Given the description of an element on the screen output the (x, y) to click on. 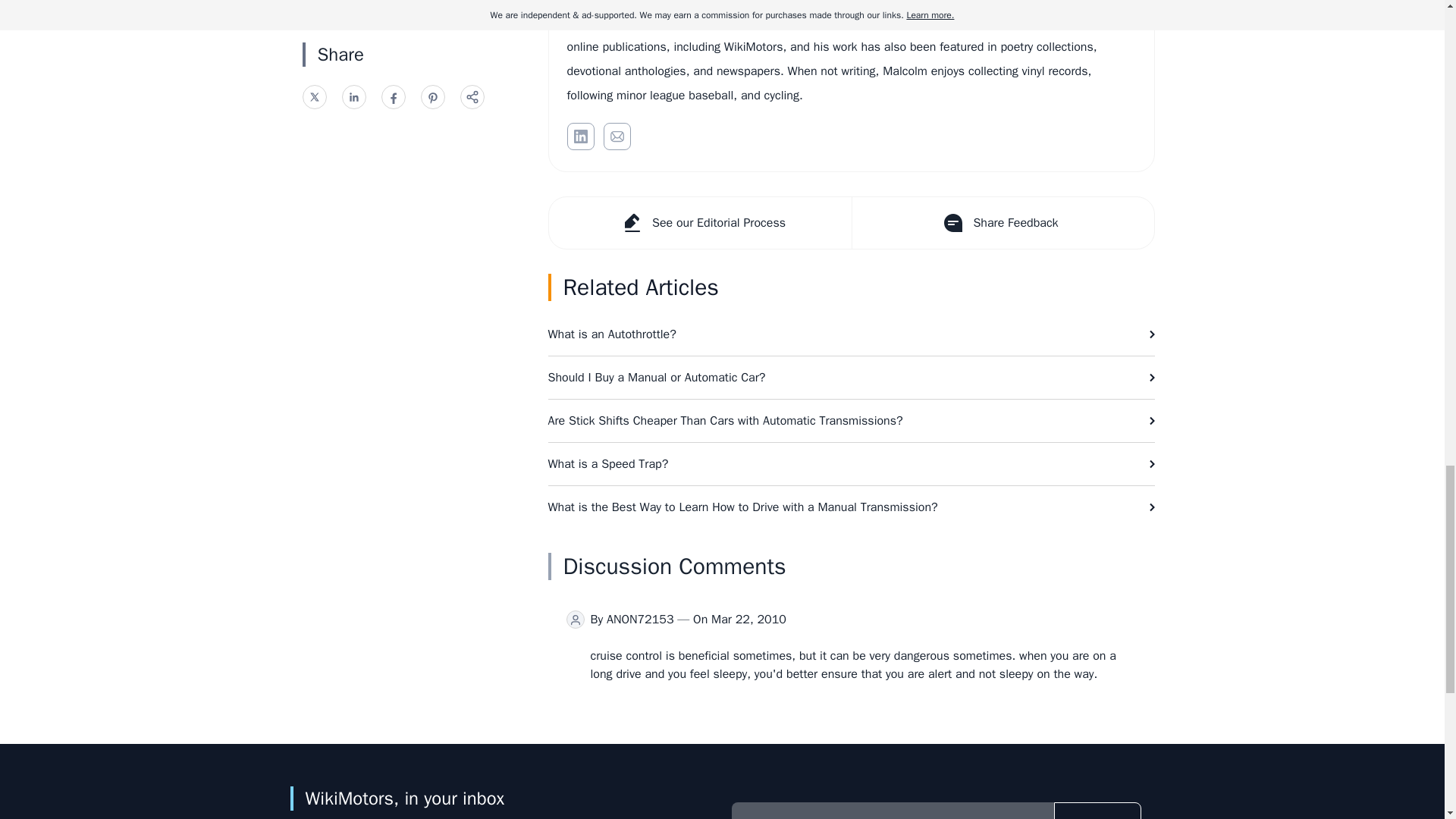
Should I Buy a Manual or Automatic Car? (850, 377)
See our Editorial Process (699, 222)
Share Feedback (1001, 222)
What is an Autothrottle? (850, 333)
